Given the description of an element on the screen output the (x, y) to click on. 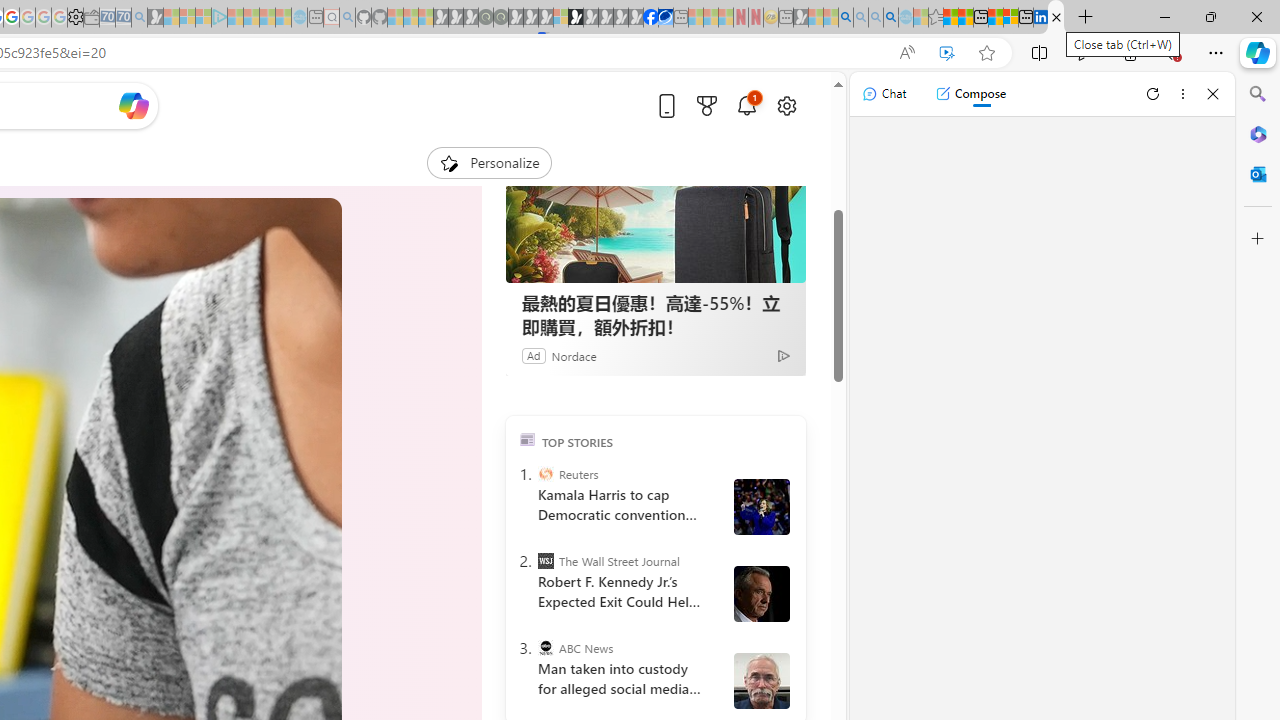
Google Chrome Internet Browser Download - Search Images (891, 17)
The Wall Street Journal (545, 560)
